Given the description of an element on the screen output the (x, y) to click on. 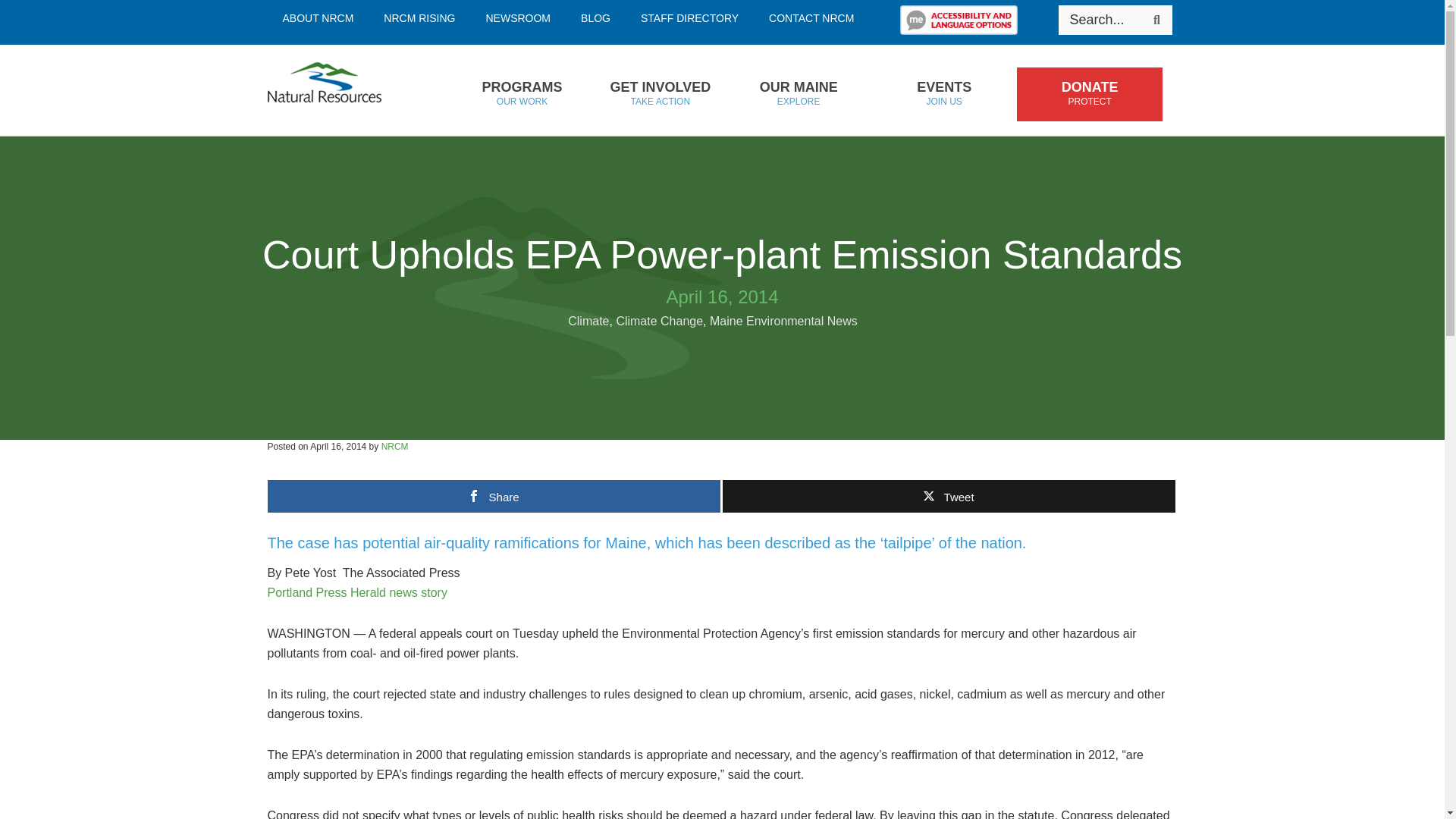
ABOUT NRCM (317, 18)
BLOG (596, 18)
Search (1156, 19)
Natural Resources Council of Maine (347, 90)
Portland Press Herald (356, 592)
CONTACT NRCM (811, 18)
STAFF DIRECTORY (521, 94)
NEWSROOM (690, 18)
NRCM RISING (518, 18)
